Given the description of an element on the screen output the (x, y) to click on. 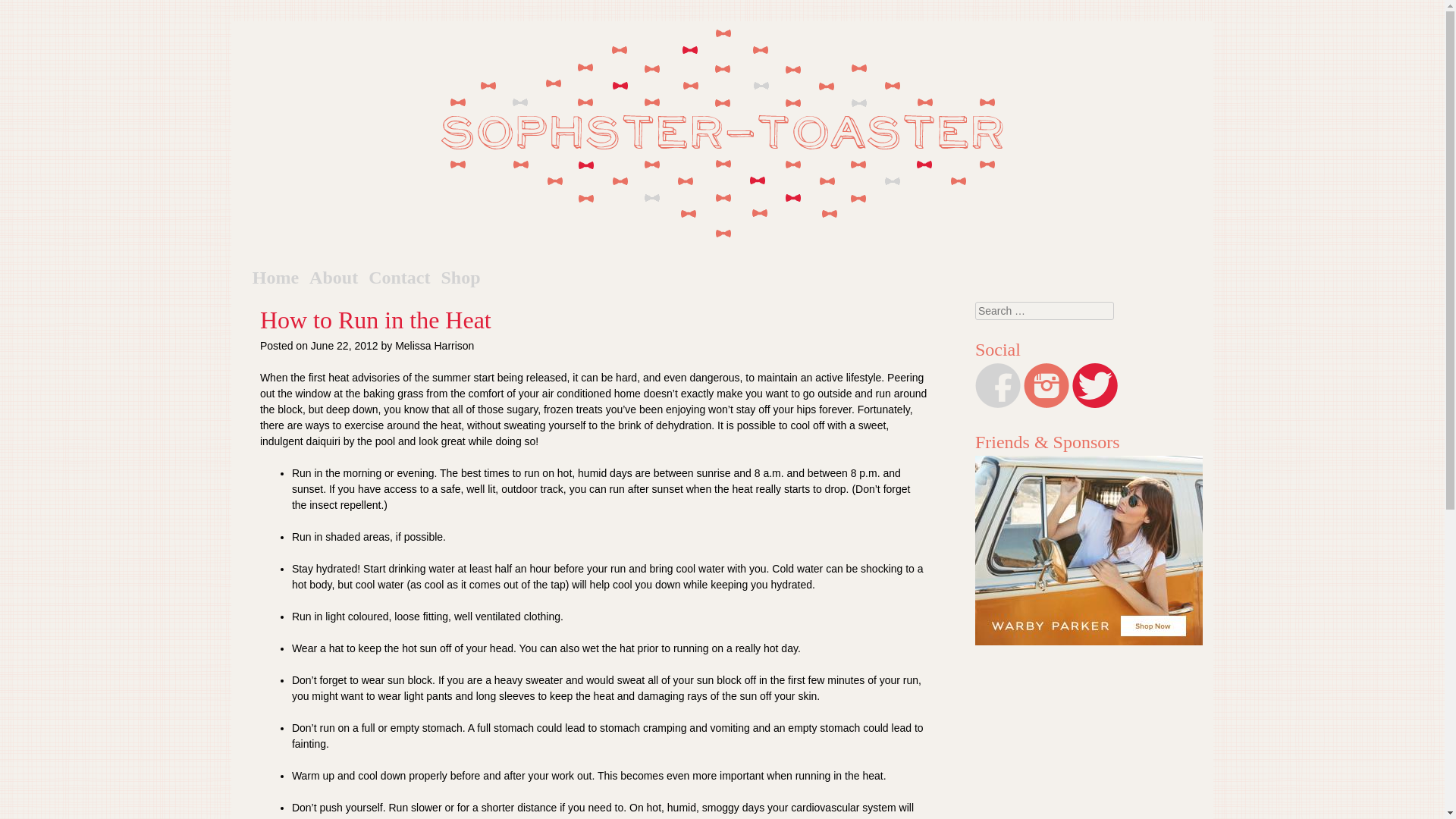
About (333, 277)
Search (24, 9)
Contact (398, 277)
Advertisement (1093, 734)
Shop (460, 277)
Melissa Harrison (434, 345)
Skip to content (310, 277)
June 22, 2012 (344, 345)
Home (274, 277)
